Given the description of an element on the screen output the (x, y) to click on. 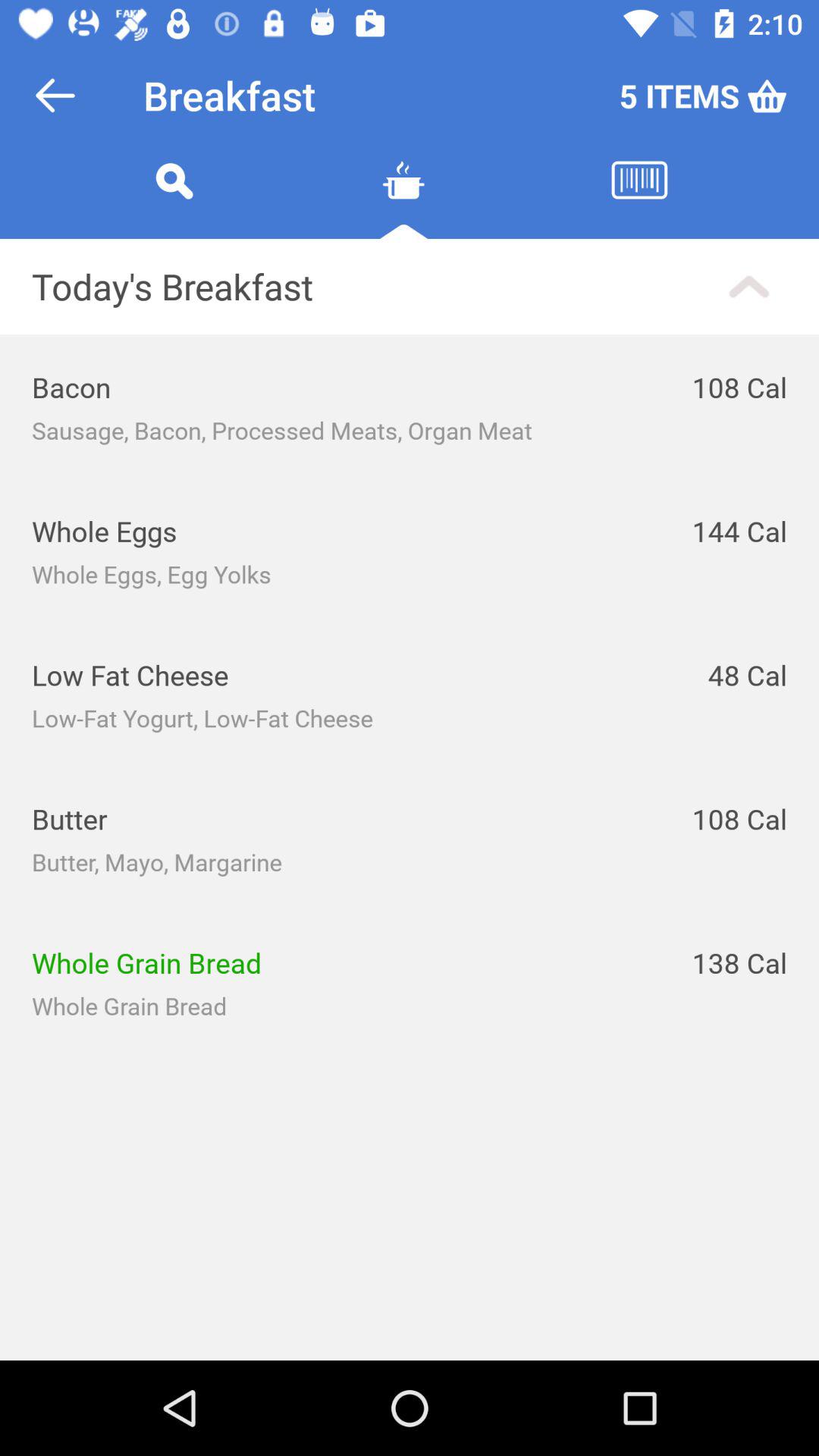
share gift (403, 198)
